Given the description of an element on the screen output the (x, y) to click on. 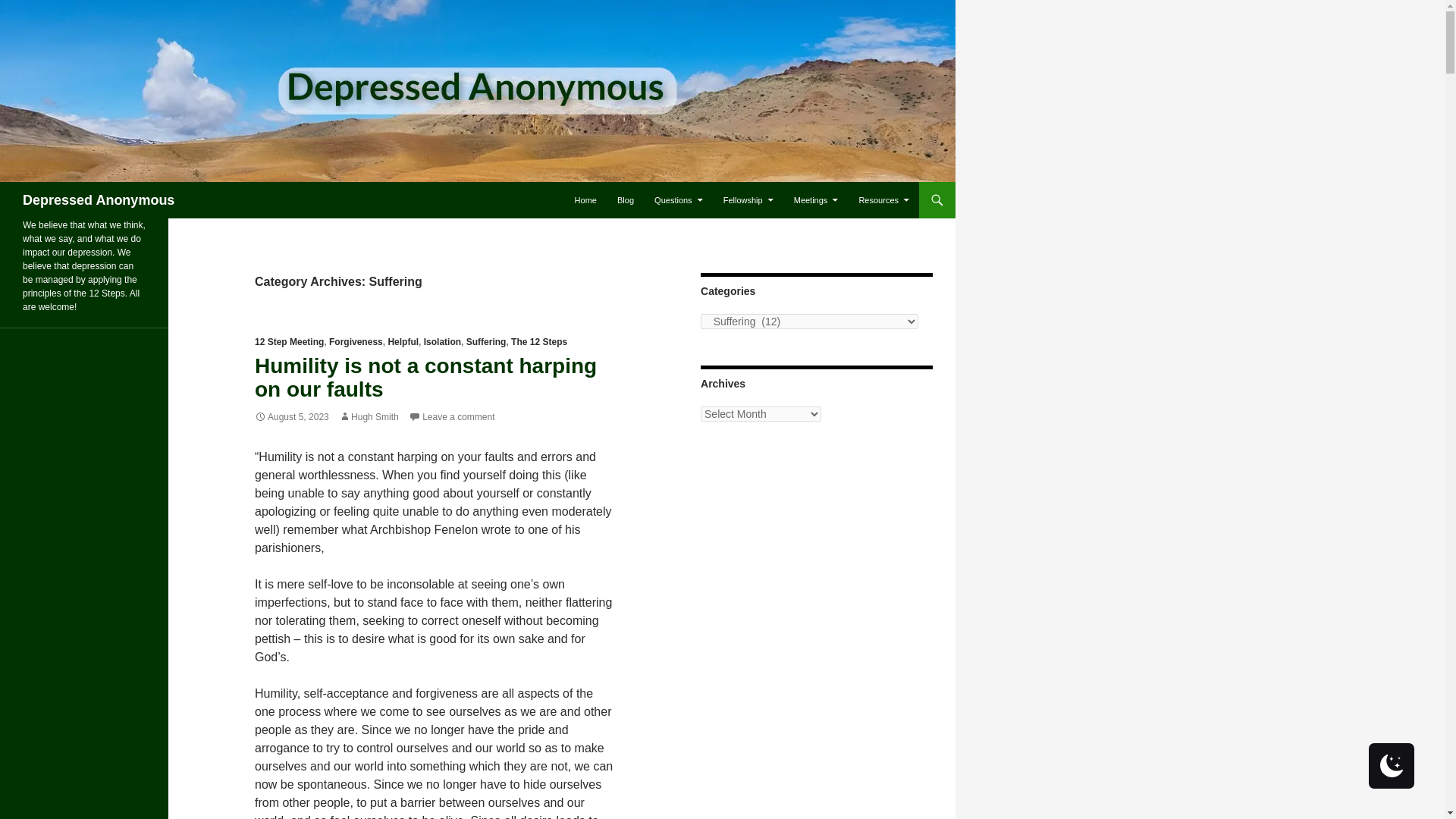
Helpful (403, 341)
Questions (678, 199)
Home (585, 199)
Fellowship (748, 199)
Isolation (442, 341)
Blog (625, 199)
Depressed Anonymous (98, 199)
12 Step Meeting (288, 341)
Forgiveness (355, 341)
